Given the description of an element on the screen output the (x, y) to click on. 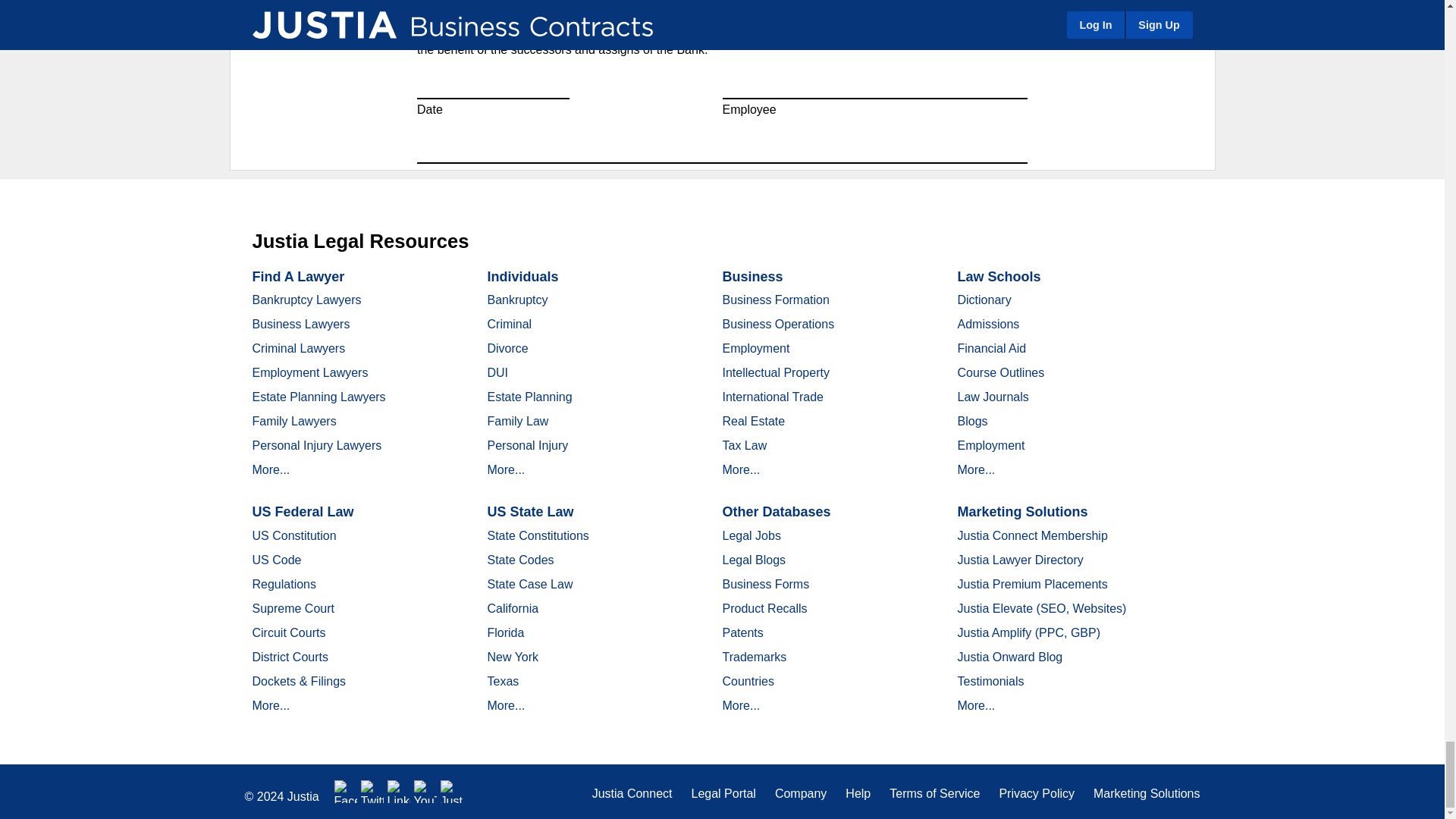
Employment Lawyers (309, 372)
Criminal Lawyers (298, 348)
Justia Lawyer Directory (452, 791)
Estate Planning Lawyers (318, 396)
Family Lawyers (293, 420)
Find A Lawyer (297, 276)
YouTube (424, 791)
LinkedIn (398, 791)
Twitter (372, 791)
Facebook (345, 791)
More... (270, 469)
Business Lawyers (300, 323)
Personal Injury Lawyers (316, 445)
Bankruptcy Lawyers (306, 299)
